Given the description of an element on the screen output the (x, y) to click on. 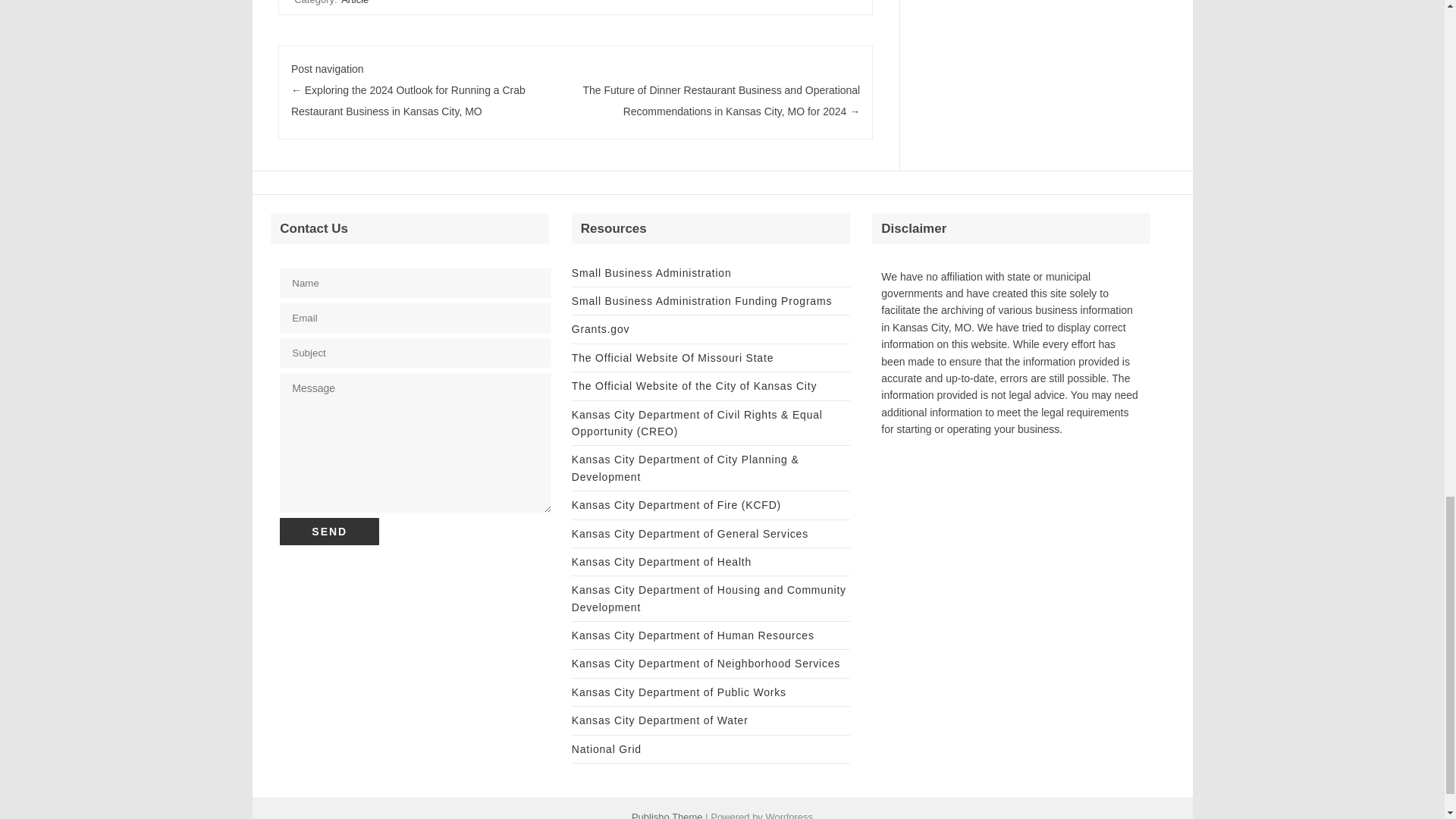
Kansas City Department of Human Resources (692, 635)
The Official Website of the City of Kansas City (694, 386)
Small Business Administration (652, 272)
Send (328, 531)
Grants.gov (600, 328)
Send (328, 531)
Article (354, 3)
Small Business Administration Funding Programs (701, 300)
National Grid (607, 748)
Kansas City Department of Neighborhood Services (706, 663)
